Given the description of an element on the screen output the (x, y) to click on. 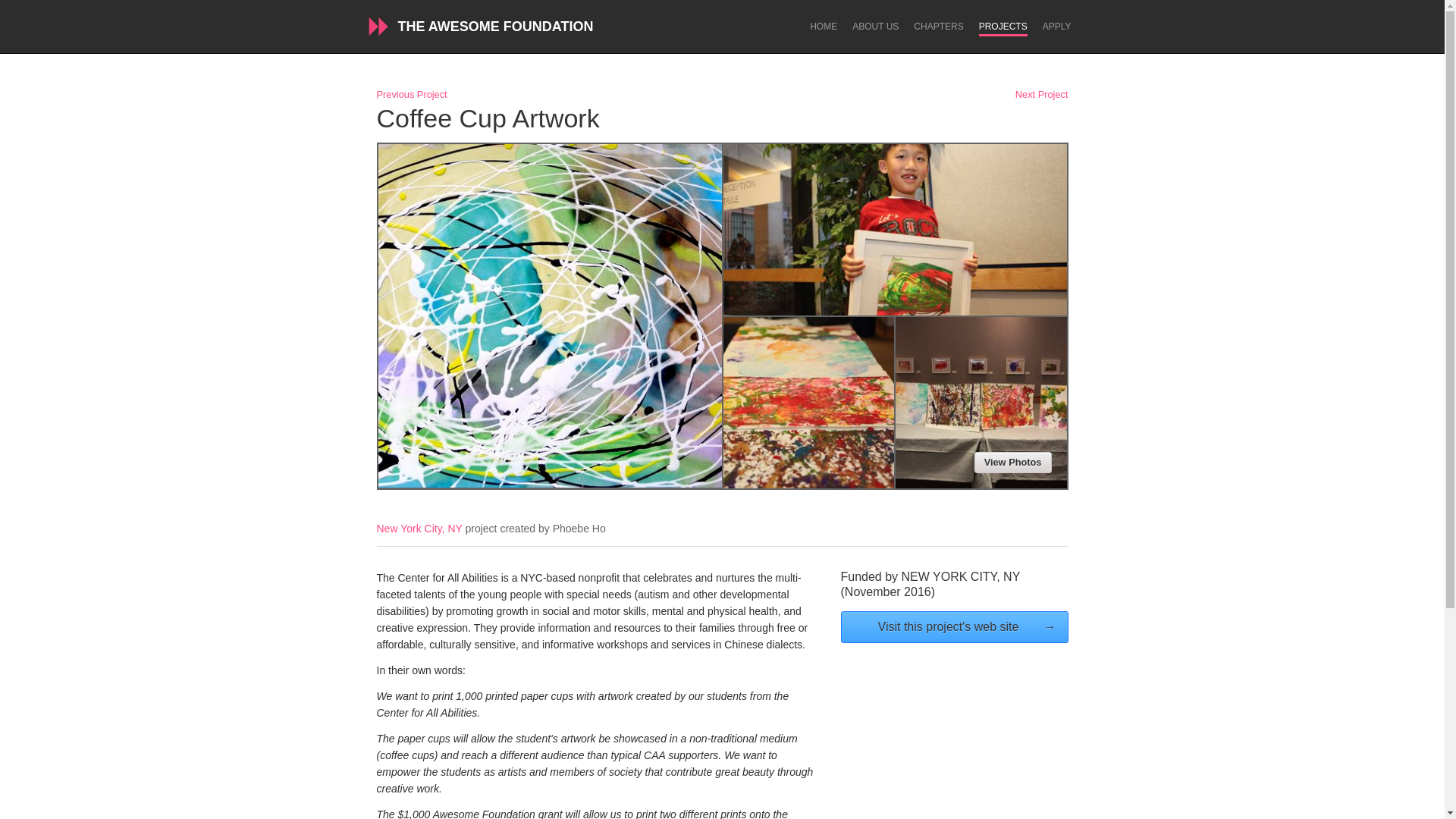
ABOUT US (874, 27)
HOME (823, 27)
APPLY (1056, 27)
CHAPTERS (938, 27)
PROJECTS (1002, 28)
